Given the description of an element on the screen output the (x, y) to click on. 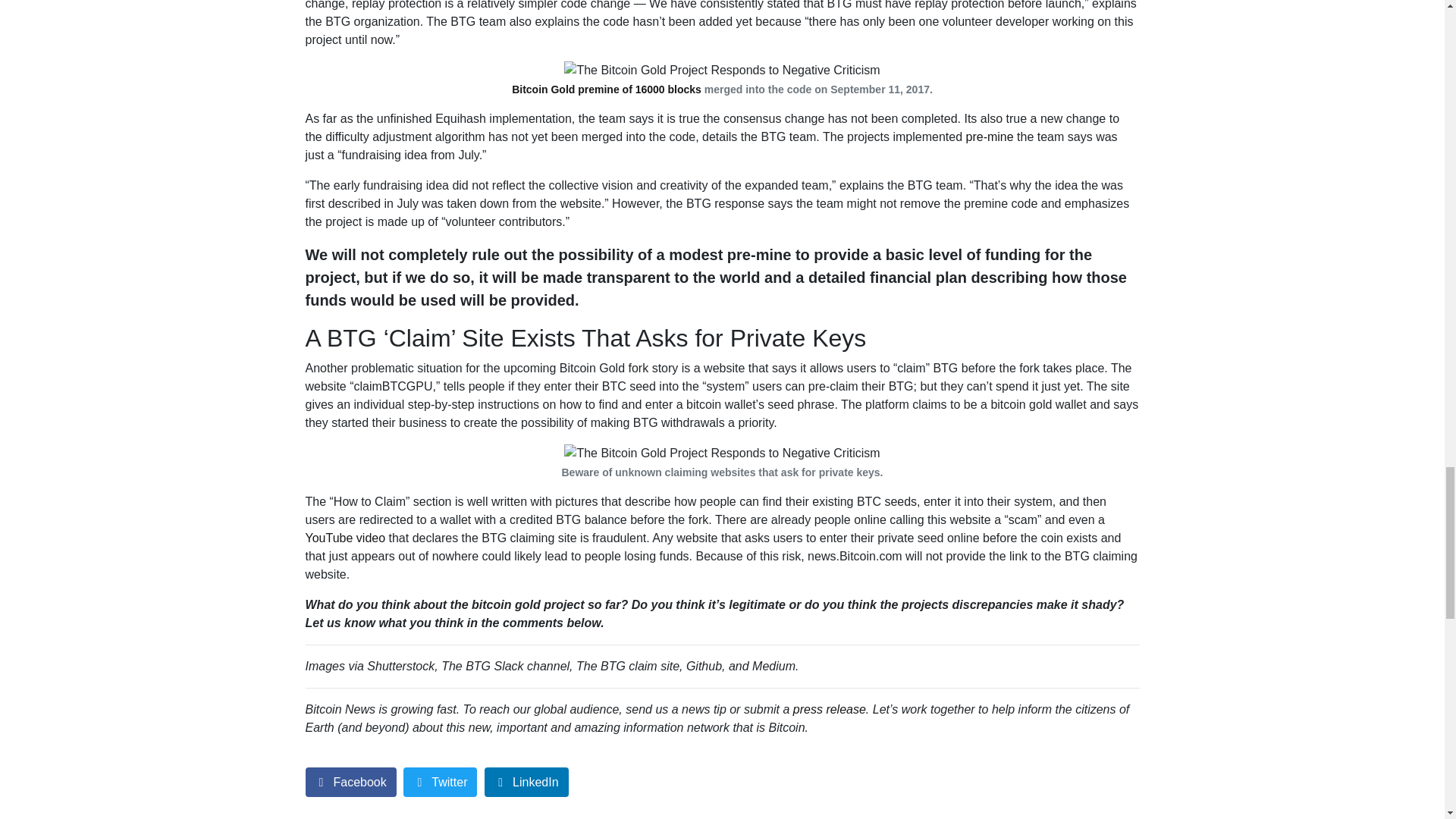
The Bitcoin Gold Project Responds to Negative Criticism (721, 70)
Page 8 (721, 277)
The Bitcoin Gold Project Responds to Negative Criticism (721, 453)
